Given the description of an element on the screen output the (x, y) to click on. 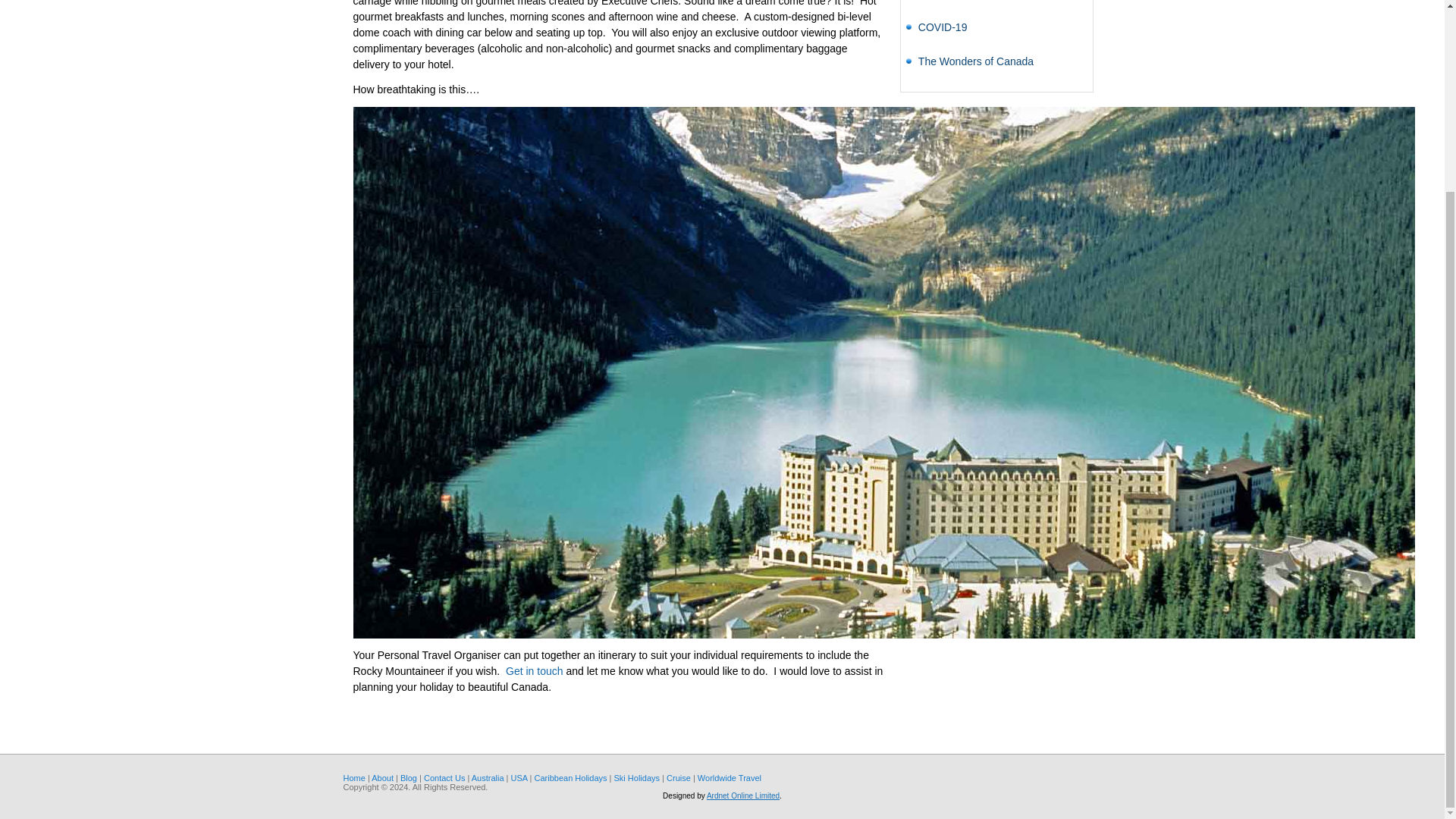
Ski Holidays (637, 777)
Blog (408, 777)
Caribbean Holidays (570, 777)
The Wonders of Canada (975, 61)
Ardnet Online Limited (742, 795)
Australia (487, 777)
USA (519, 777)
Cruise (678, 777)
Get in touch (534, 671)
About (382, 777)
Home (353, 777)
Contact Us (443, 777)
Worldwide Travel (729, 777)
COVID-19 (943, 27)
